Given the description of an element on the screen output the (x, y) to click on. 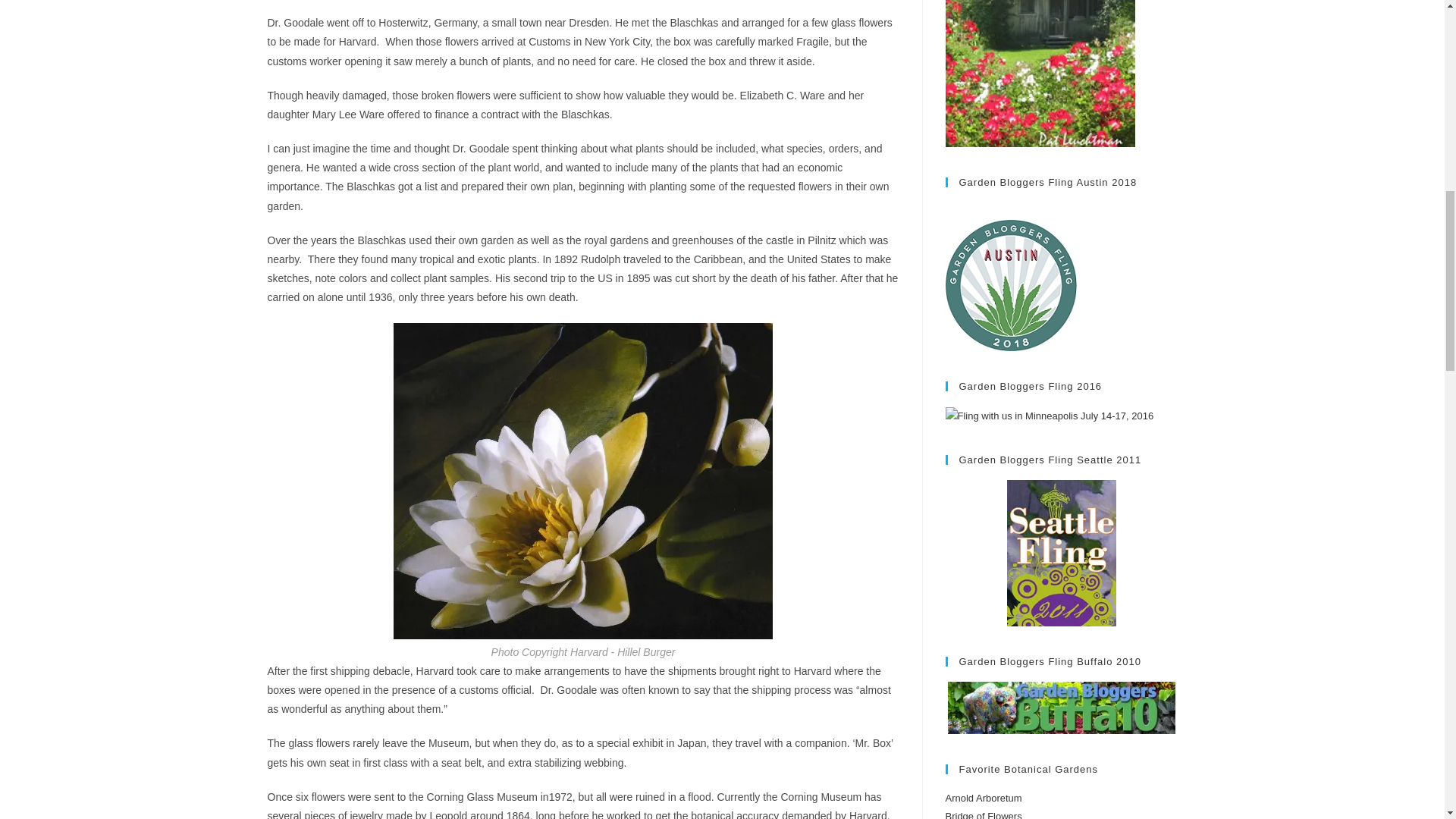
Minneapolis 2016 (1048, 414)
